Given the description of an element on the screen output the (x, y) to click on. 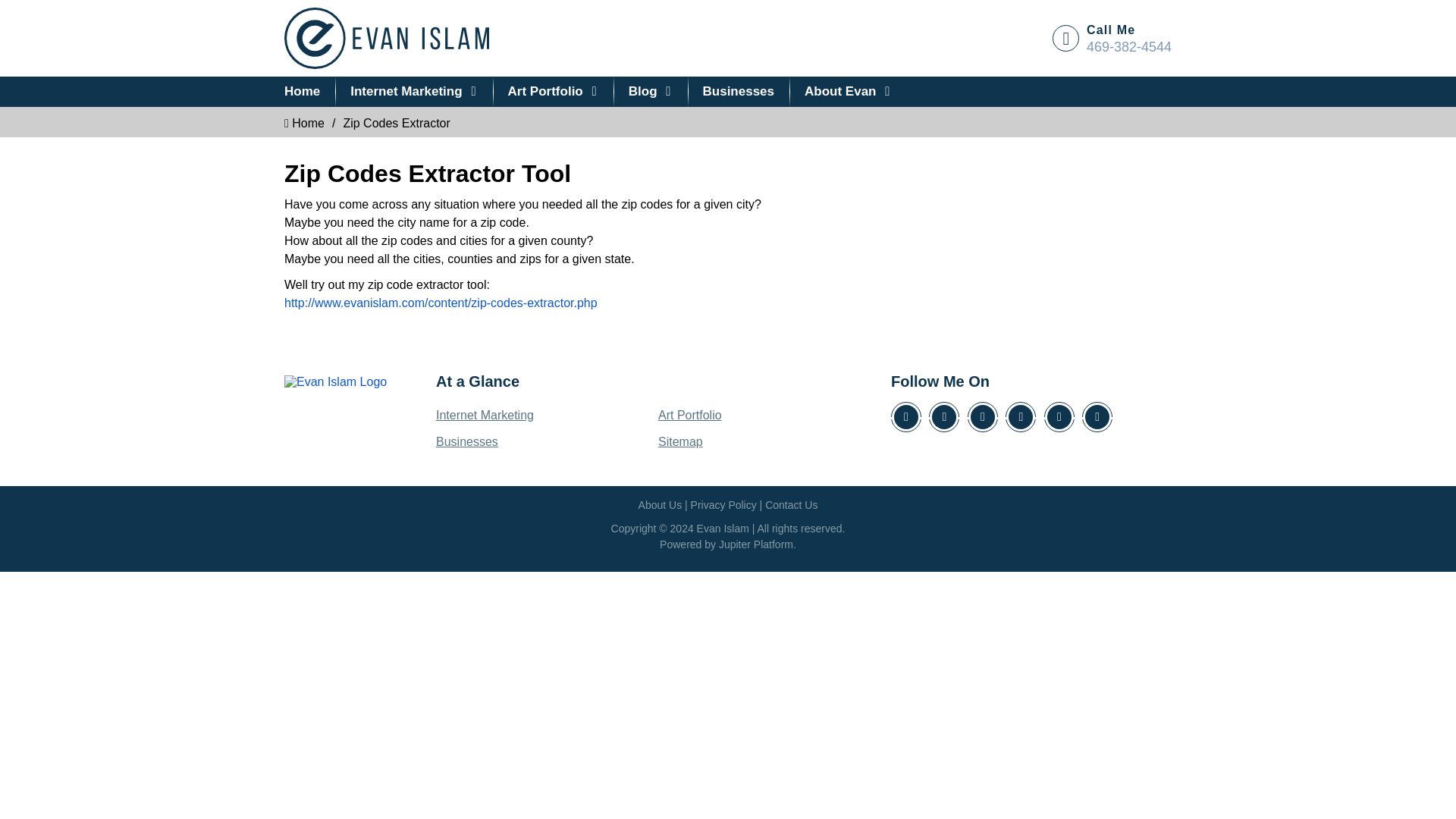
Internet Marketing (484, 414)
Home (303, 123)
My WordPress Page (1020, 417)
My Twitter Page (943, 417)
Art Portfolio (553, 91)
Art Portfolio (690, 414)
My yelp Page (1058, 417)
Internet Marketing (413, 91)
469-382-4544 (1129, 47)
About Evan (848, 91)
Businesses (738, 91)
My Wikipedia Page (906, 417)
Sitemap (680, 440)
My Linkedin Page (982, 417)
Businesses (466, 440)
